Given the description of an element on the screen output the (x, y) to click on. 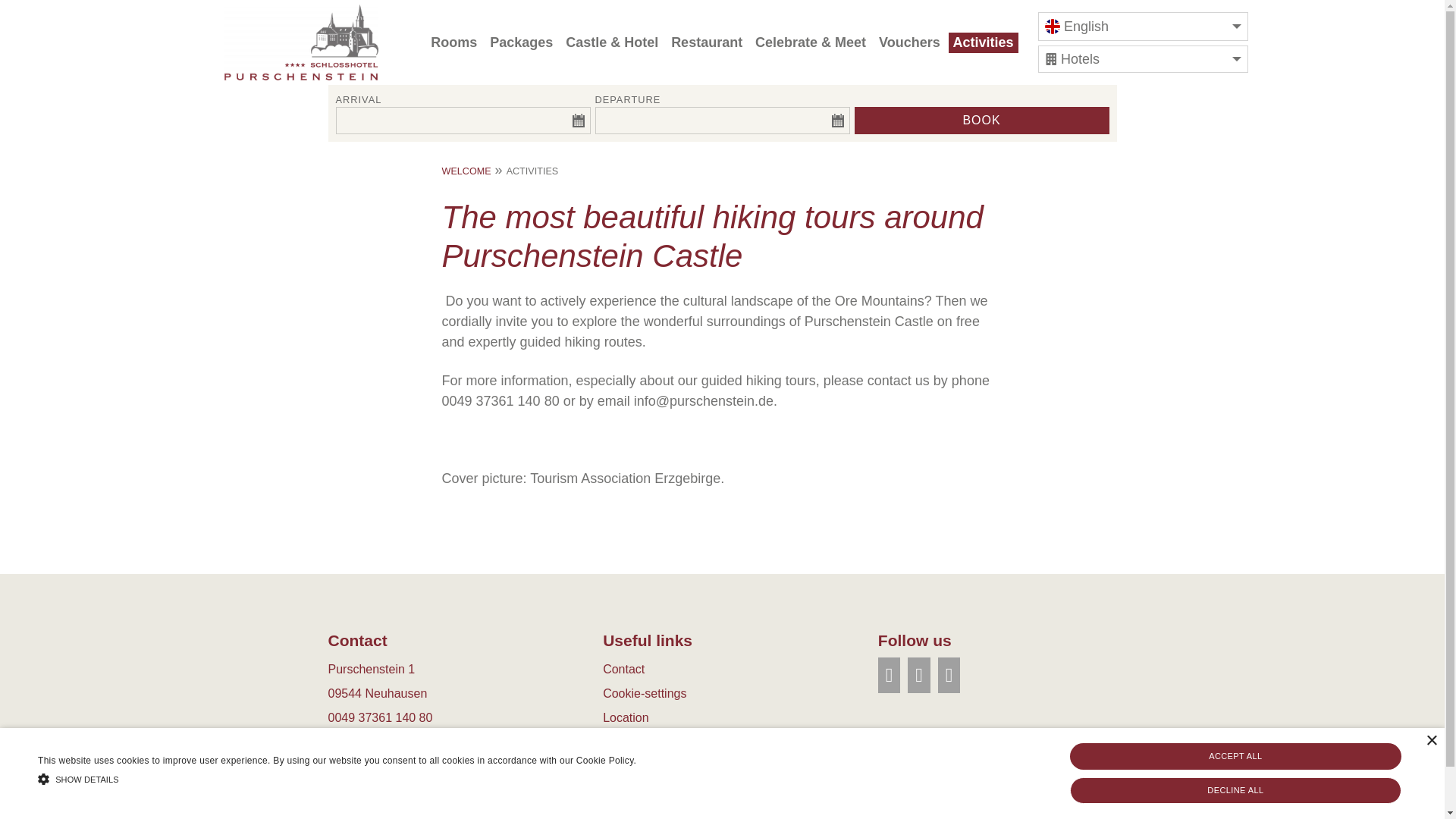
Book (980, 120)
Website by Hoteliers.com (670, 741)
Cookie-settings (643, 693)
Contact (623, 668)
WELCOME (465, 171)
Activities (983, 42)
Restaurant (706, 42)
Packages (520, 41)
Book (980, 120)
Vouchers (909, 41)
Location (625, 717)
ACTIVITIES (532, 171)
Read more (662, 760)
Rooms (453, 41)
